Given the description of an element on the screen output the (x, y) to click on. 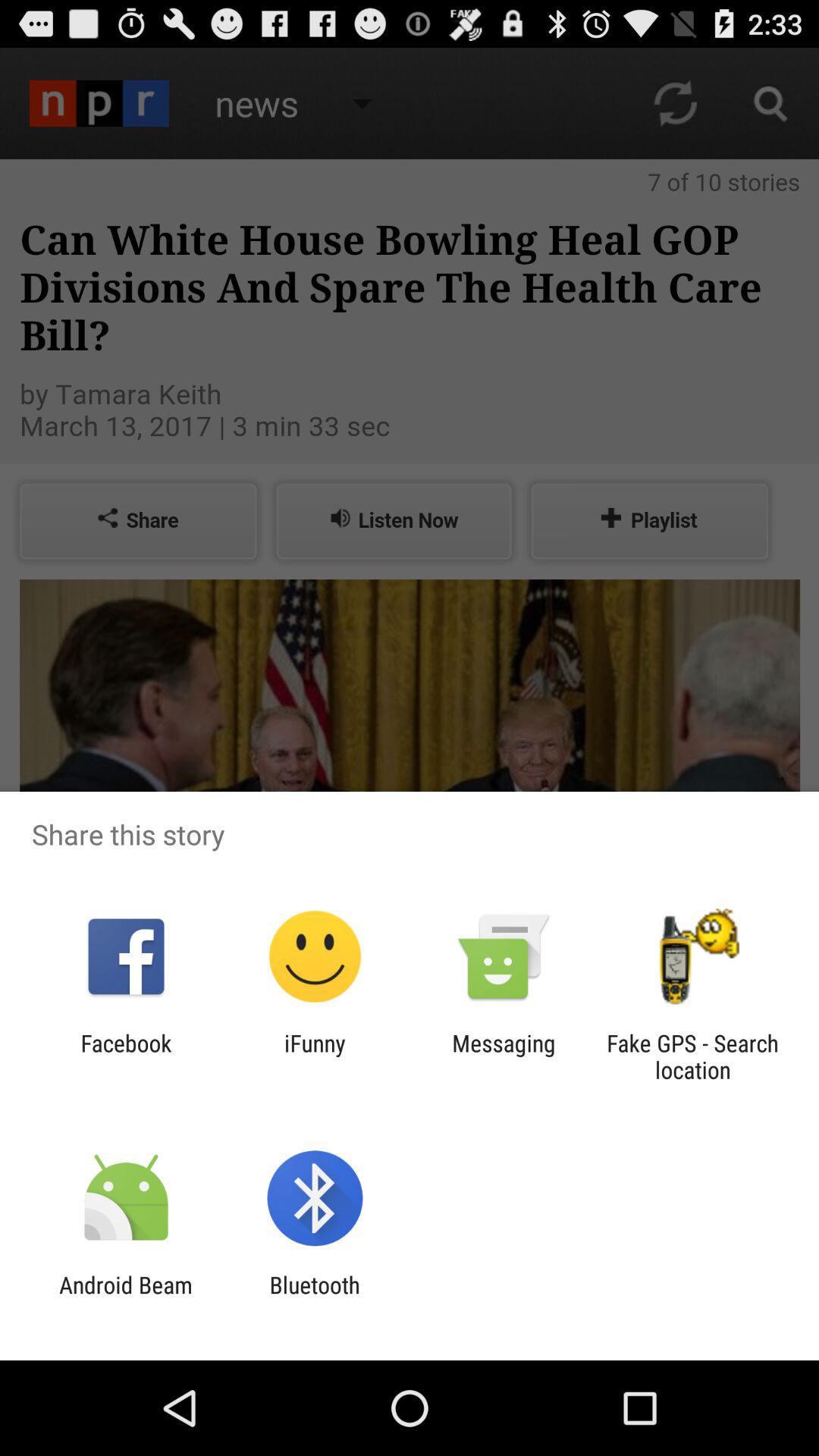
flip to fake gps search item (692, 1056)
